Given the description of an element on the screen output the (x, y) to click on. 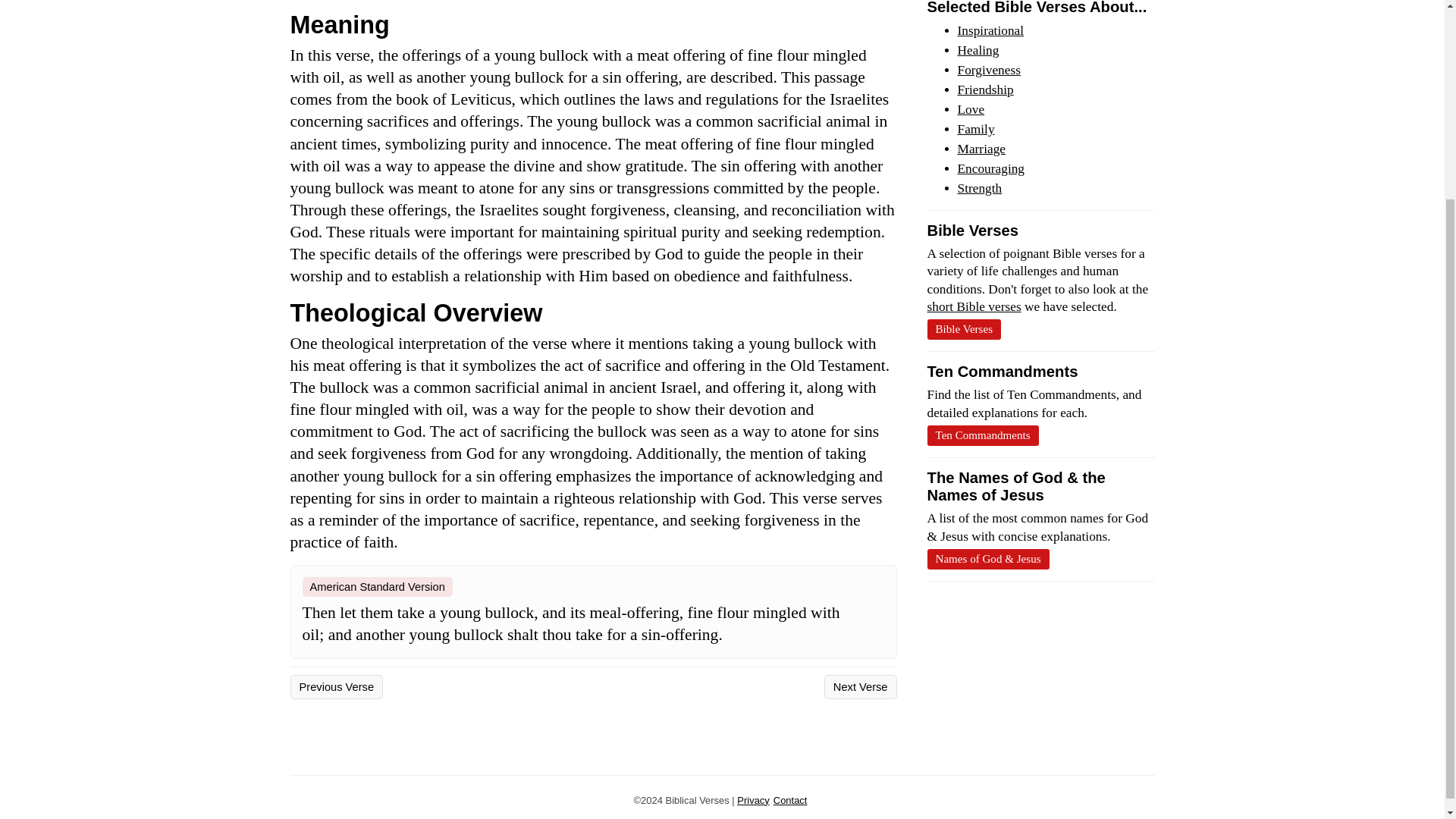
Next Verse (860, 686)
Bible Verses (963, 329)
Family (975, 129)
Friendship (984, 89)
Privacy (752, 799)
Inspirational (989, 30)
short Bible verses (973, 306)
Previous Verse (335, 686)
Marriage (981, 148)
Contact (790, 799)
